Given the description of an element on the screen output the (x, y) to click on. 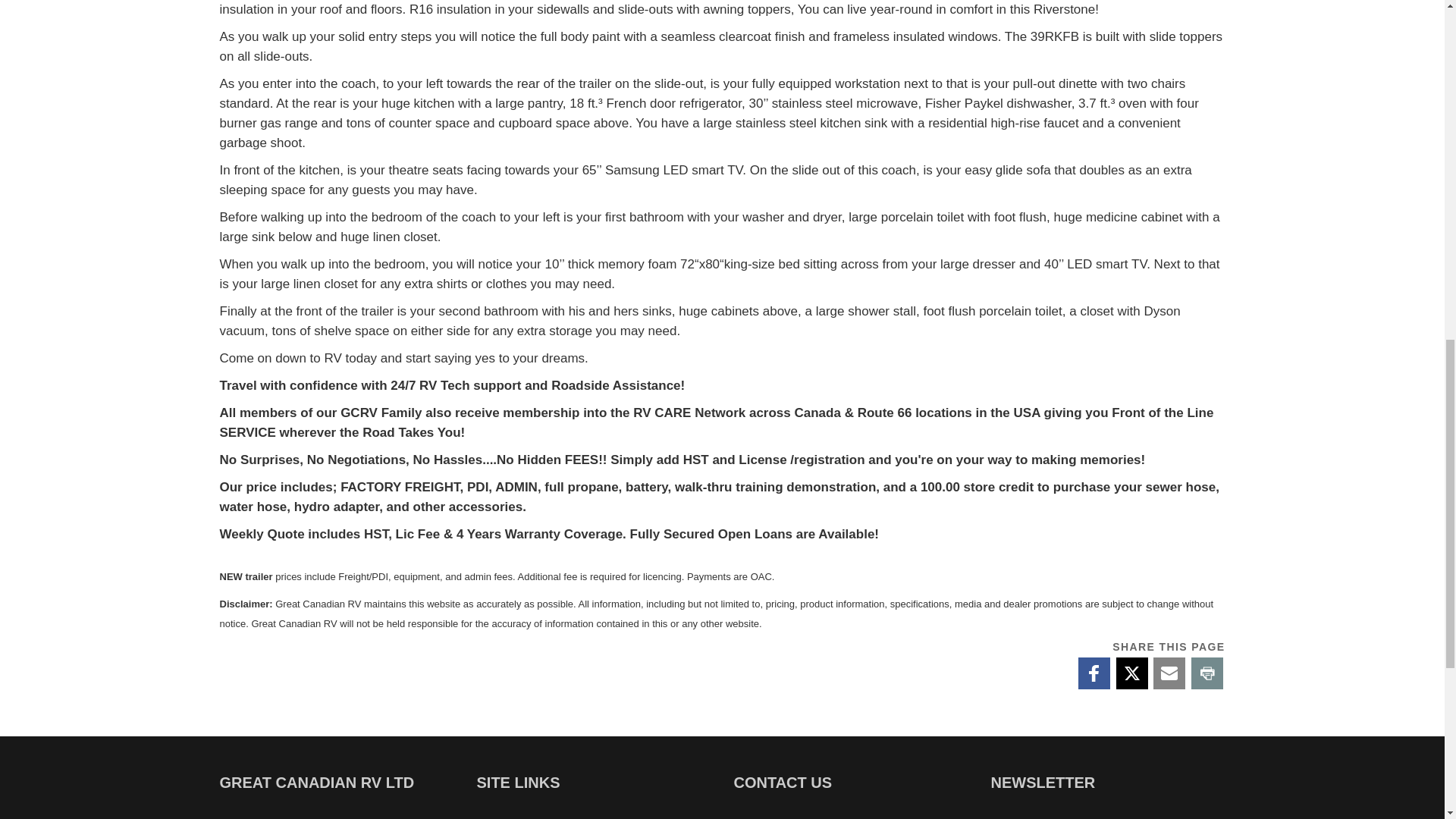
Share this page on Facebook (1093, 672)
Share this page on X (1131, 672)
Email a link to this page (1168, 672)
Print this page (1207, 672)
